Given the description of an element on the screen output the (x, y) to click on. 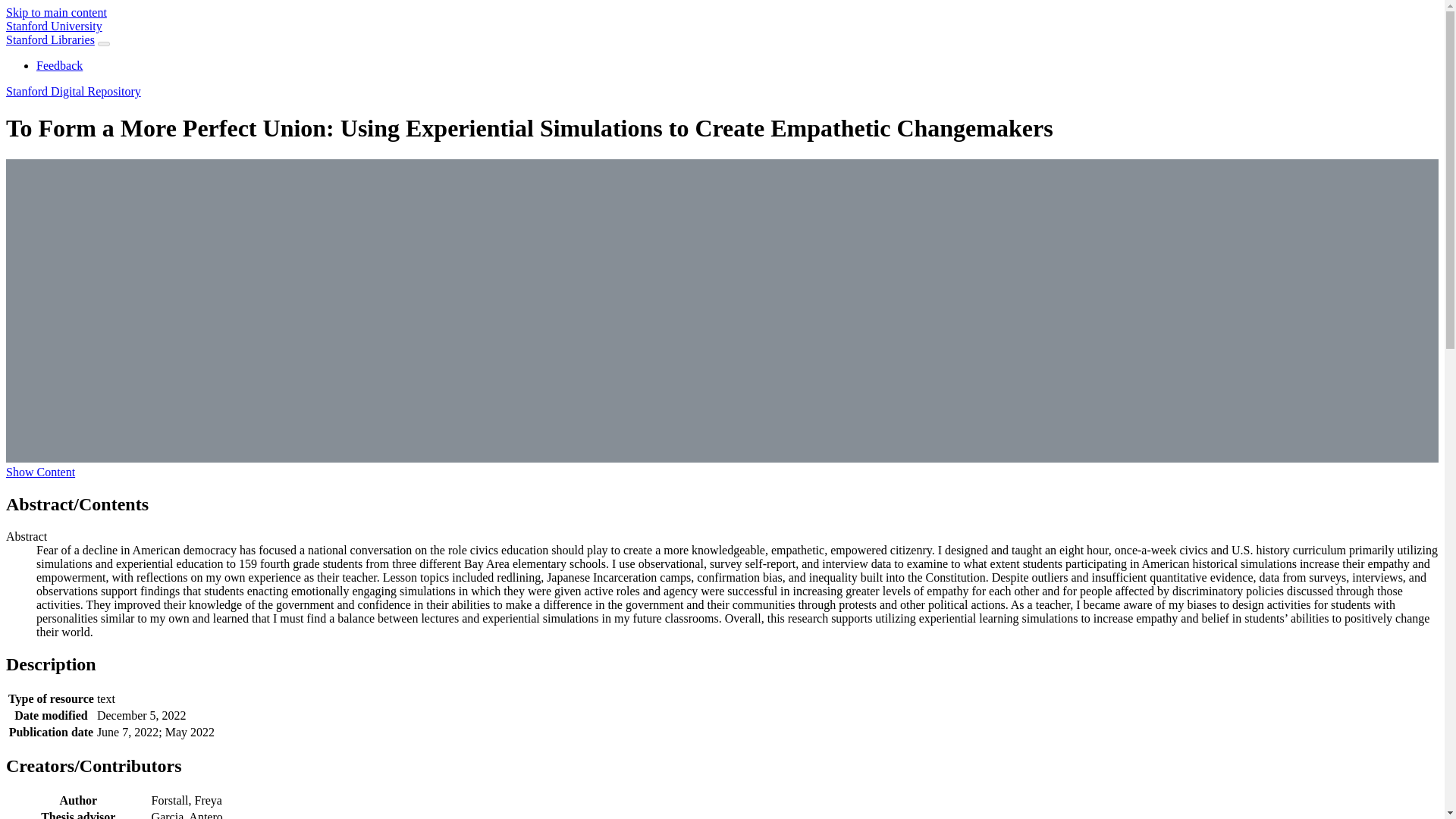
Feedback (59, 65)
Stanford Digital Repository (73, 91)
Stanford Libraries (49, 39)
Stanford University (53, 25)
Skip to main content (55, 11)
Show Content (40, 472)
